Given the description of an element on the screen output the (x, y) to click on. 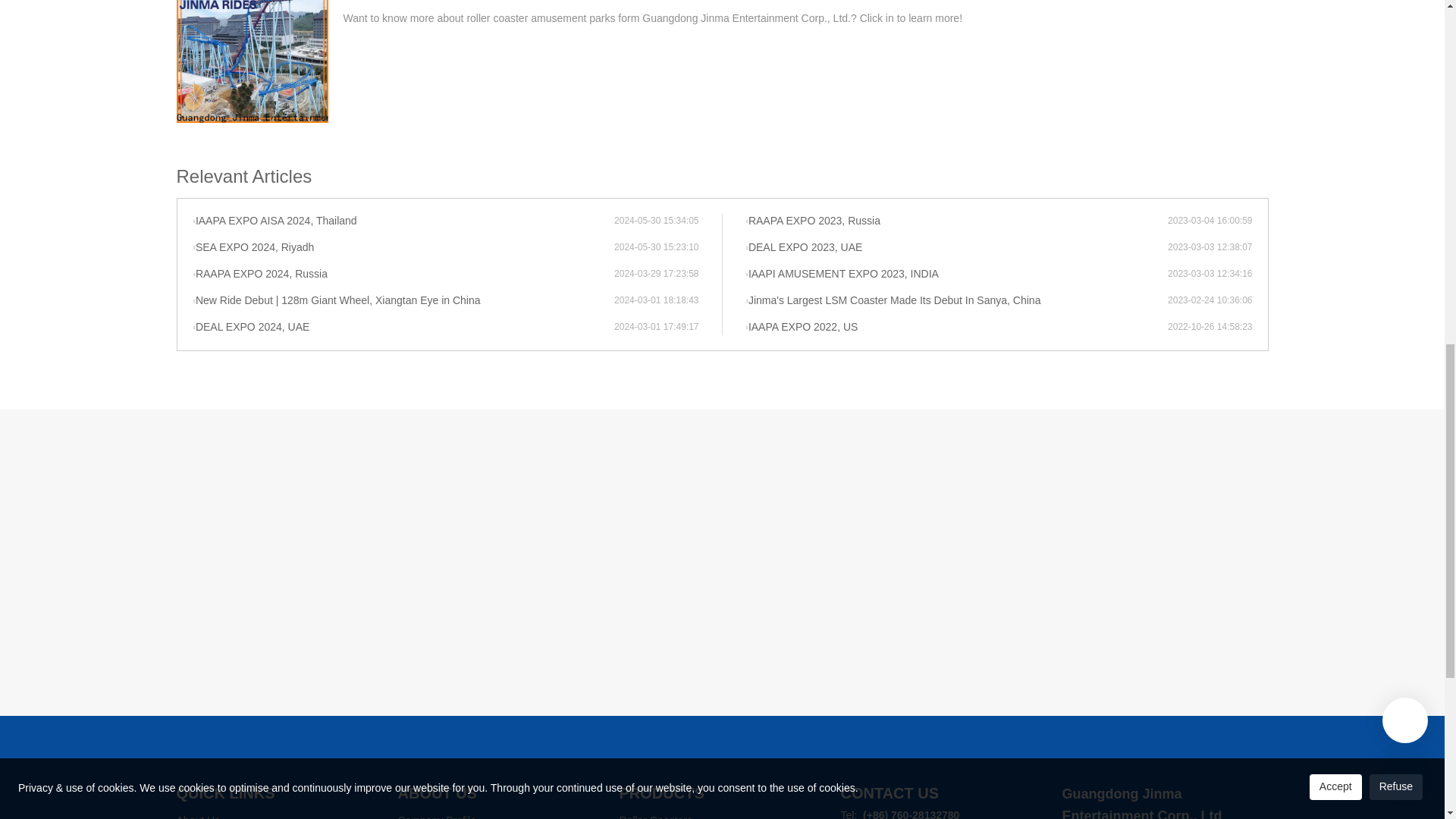
SEA EXPO 2024, Riyadh (403, 247)
IAAPA EXPO AISA 2024, Thailand (403, 221)
